Given the description of an element on the screen output the (x, y) to click on. 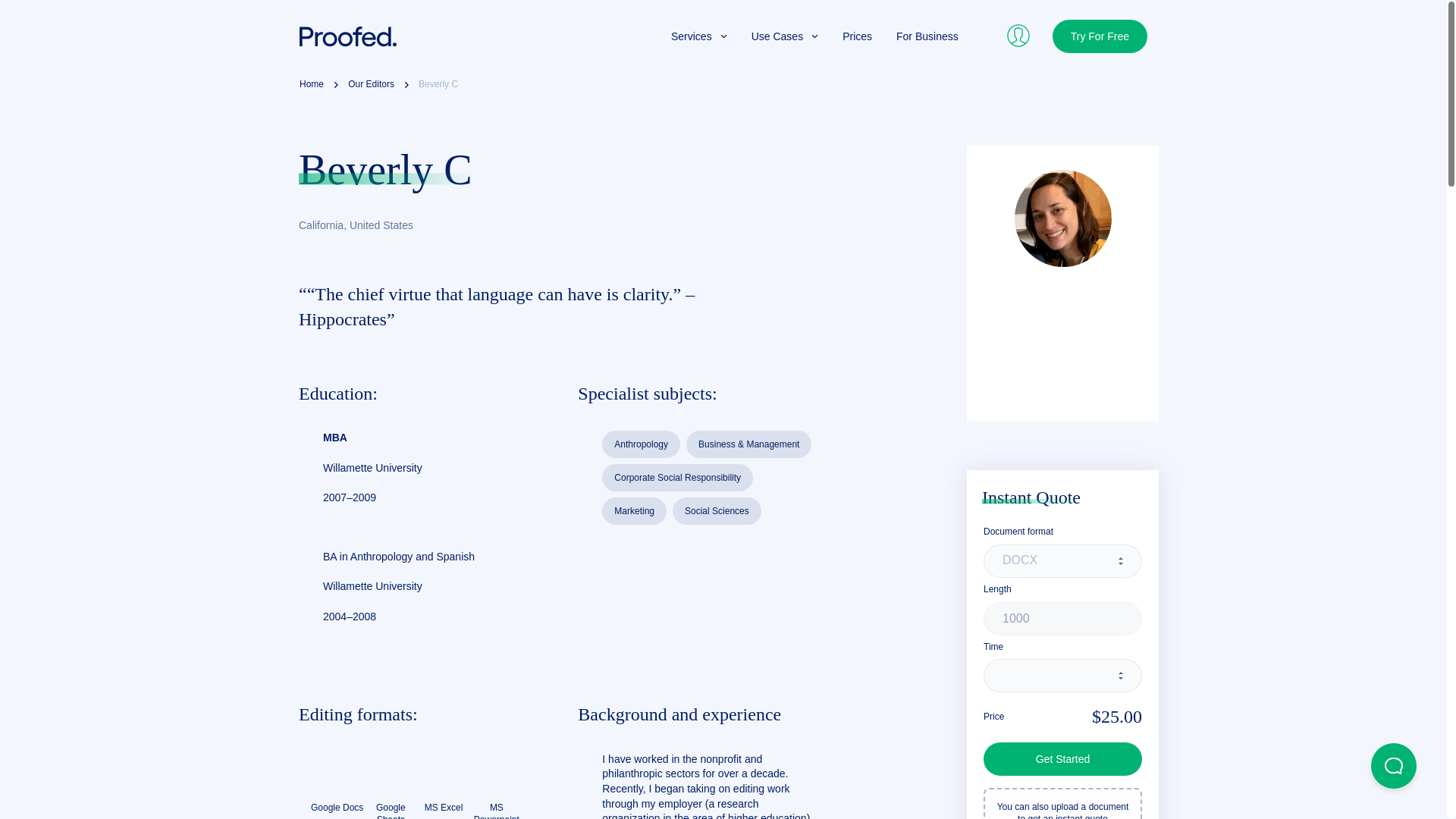
For Business (927, 36)
Our Editors (370, 84)
Try For Free (1099, 36)
Proofed Logo (347, 35)
Get Started (1062, 758)
1000 (1062, 618)
Prices (857, 36)
Home (311, 84)
